Given the description of an element on the screen output the (x, y) to click on. 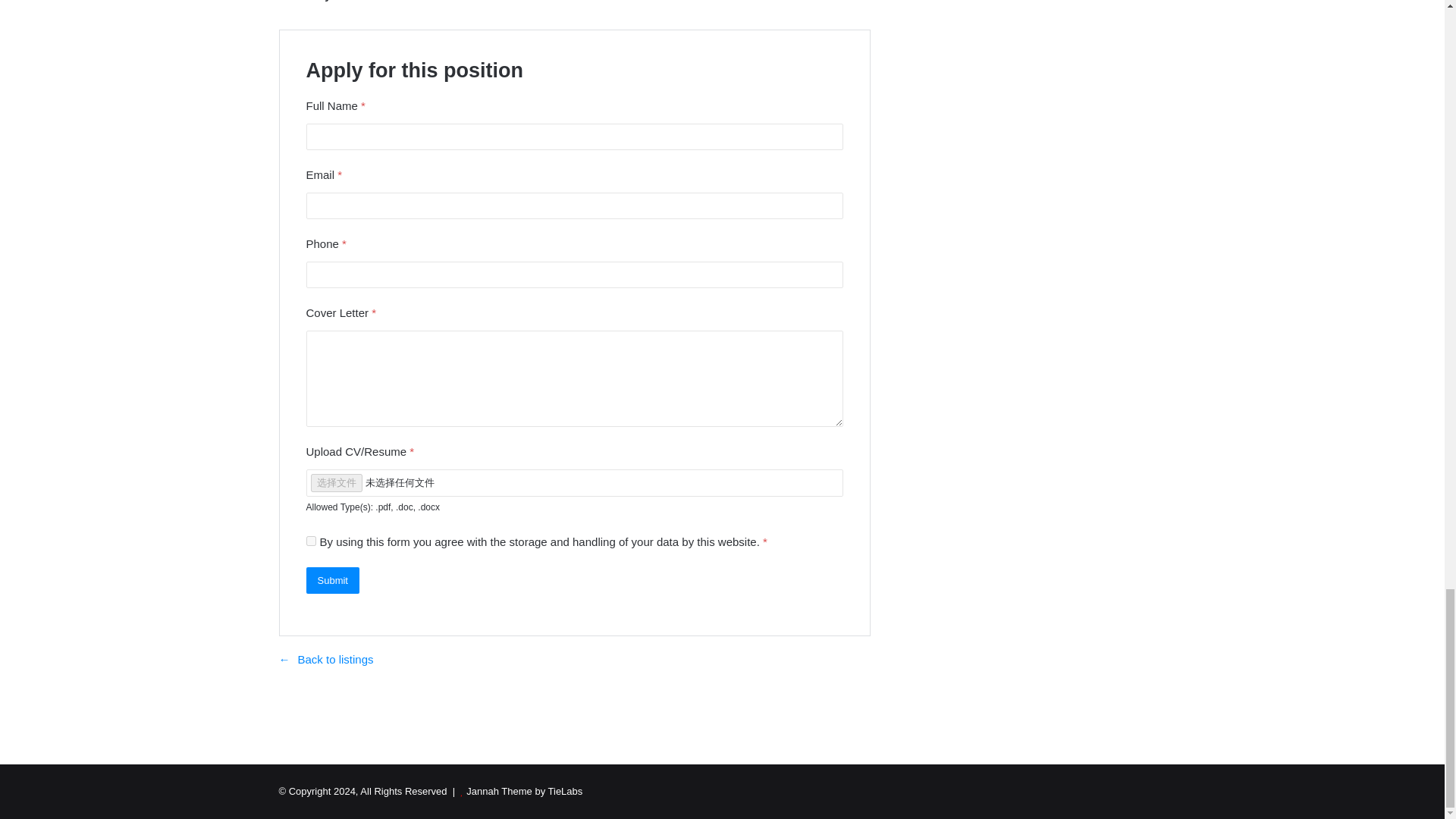
yes (310, 541)
Submit (332, 580)
Back to listings (326, 658)
Submit (332, 580)
